Given the description of an element on the screen output the (x, y) to click on. 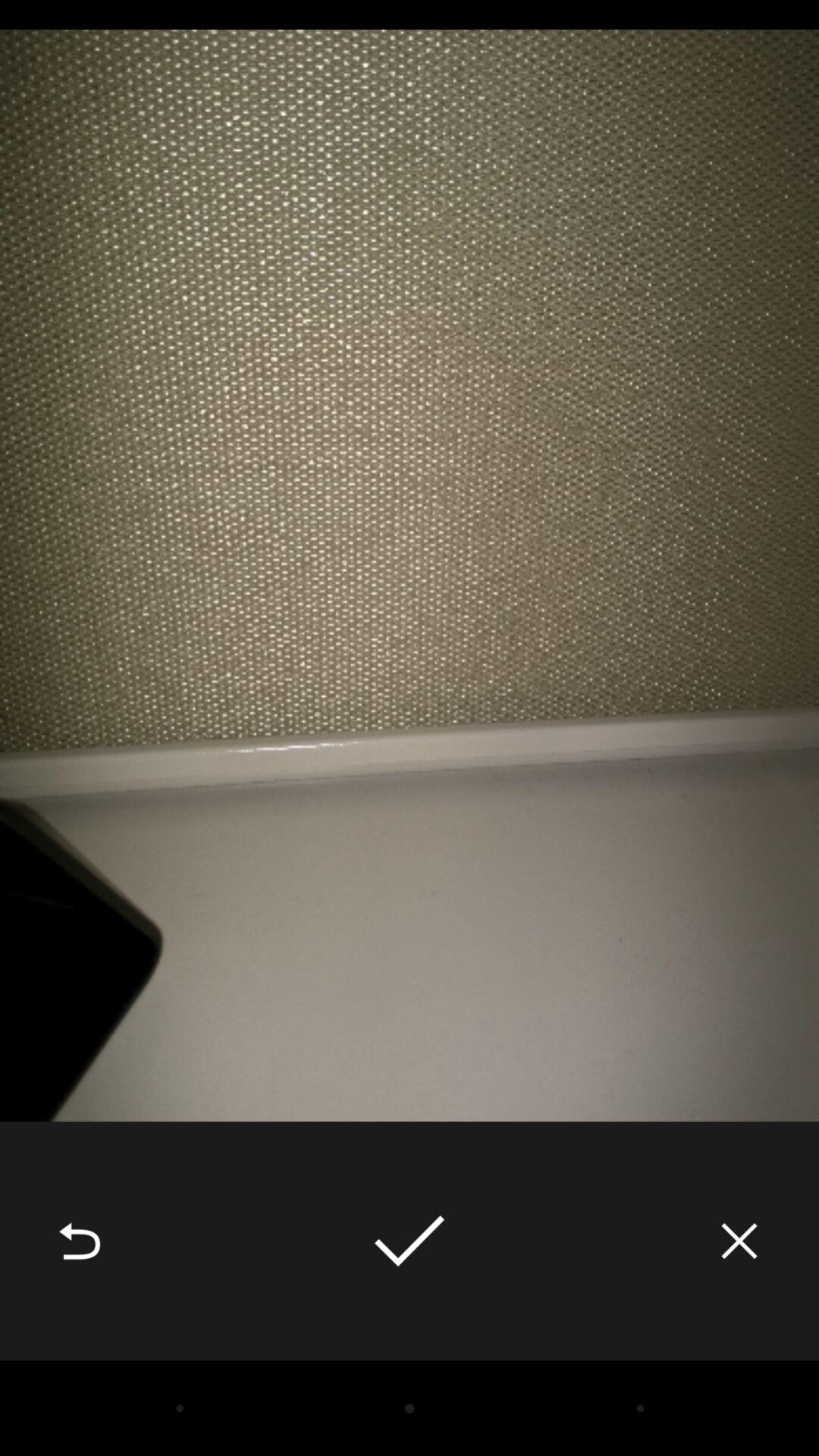
click icon at the bottom left corner (79, 1240)
